Given the description of an element on the screen output the (x, y) to click on. 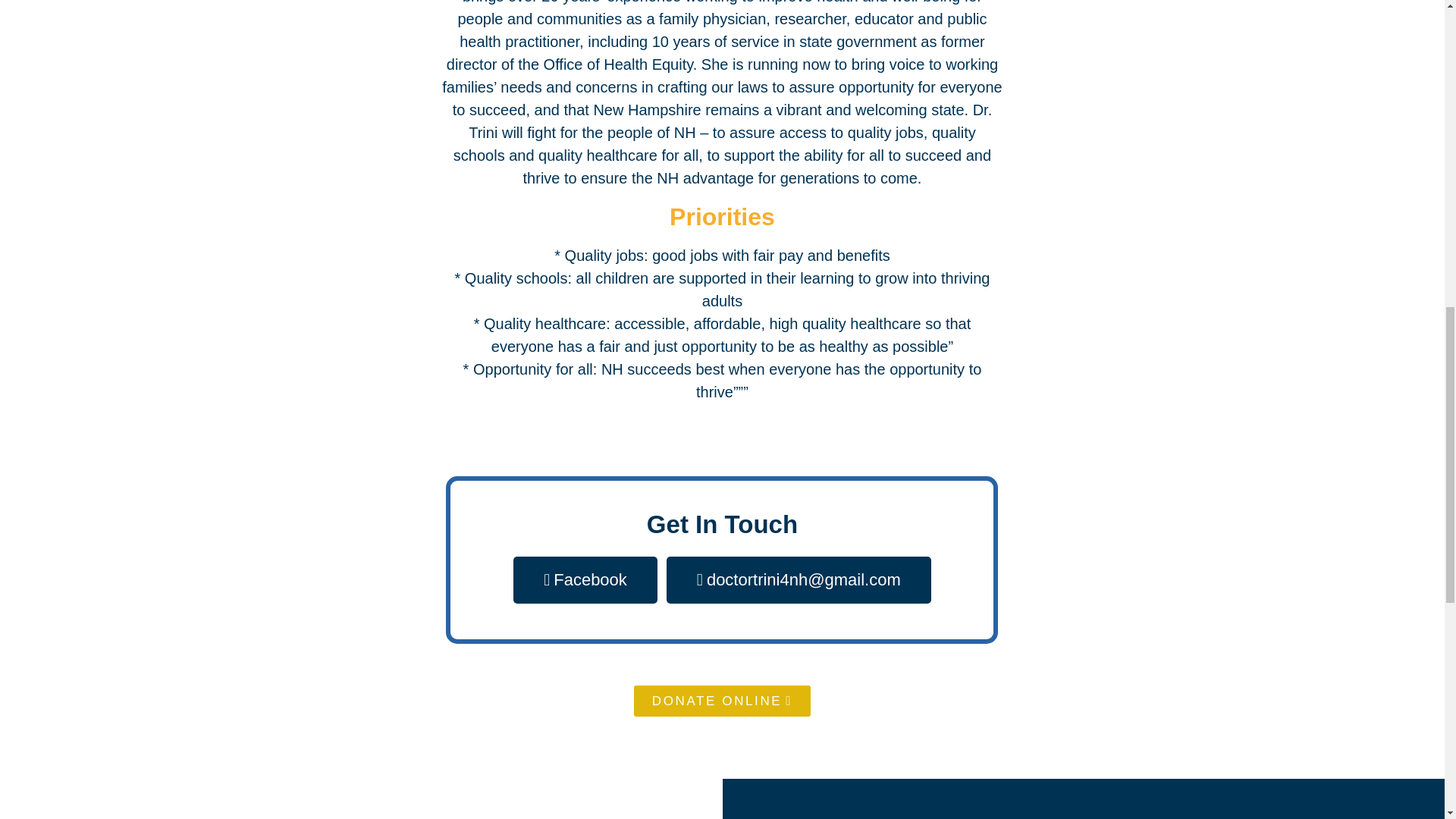
DONATE ONLINE (721, 700)
Facebook (585, 579)
